Given the description of an element on the screen output the (x, y) to click on. 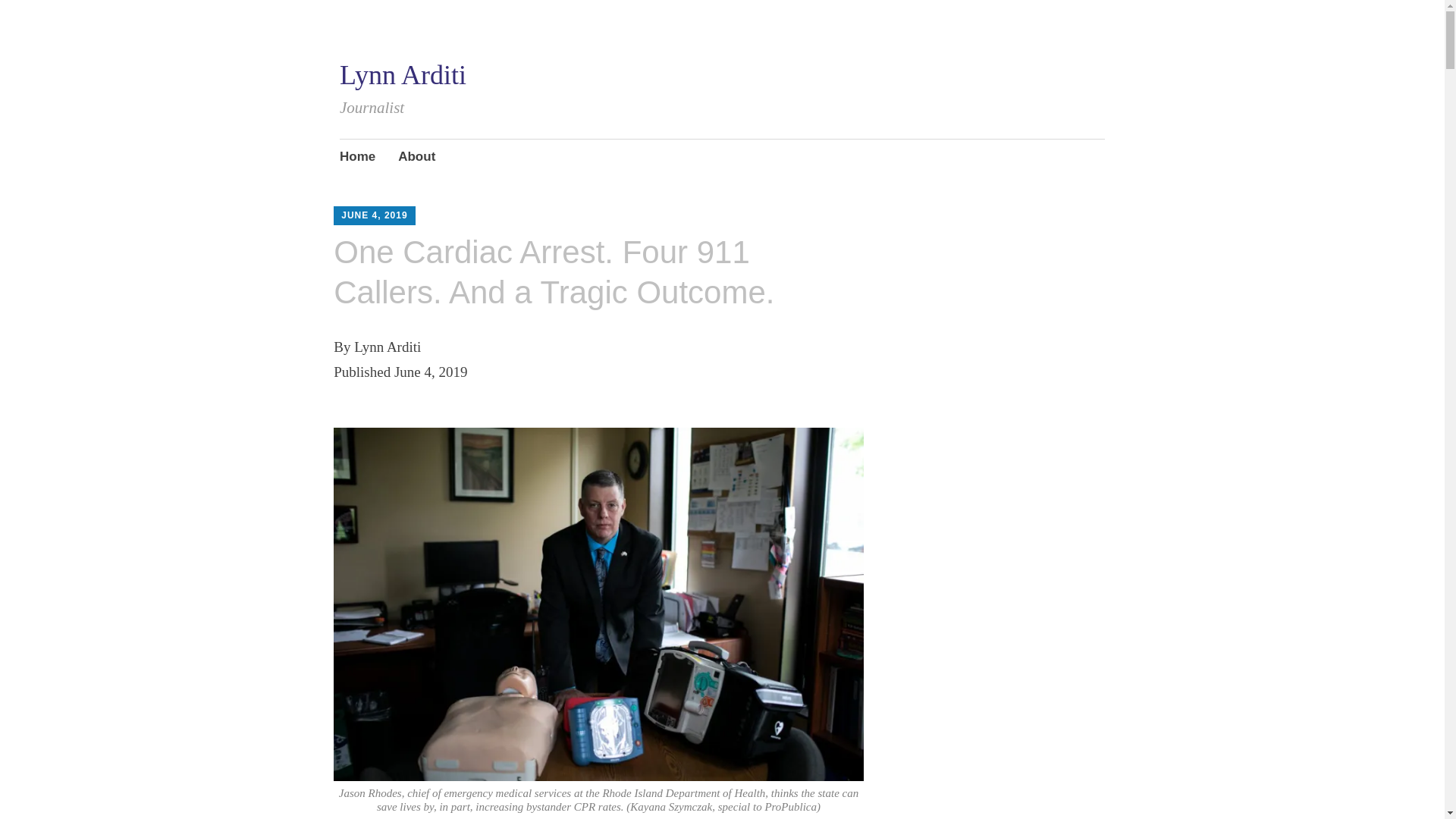
About (416, 157)
Home (357, 157)
JUNE 4, 2019 (373, 214)
Lynn Arditi (402, 74)
